Given the description of an element on the screen output the (x, y) to click on. 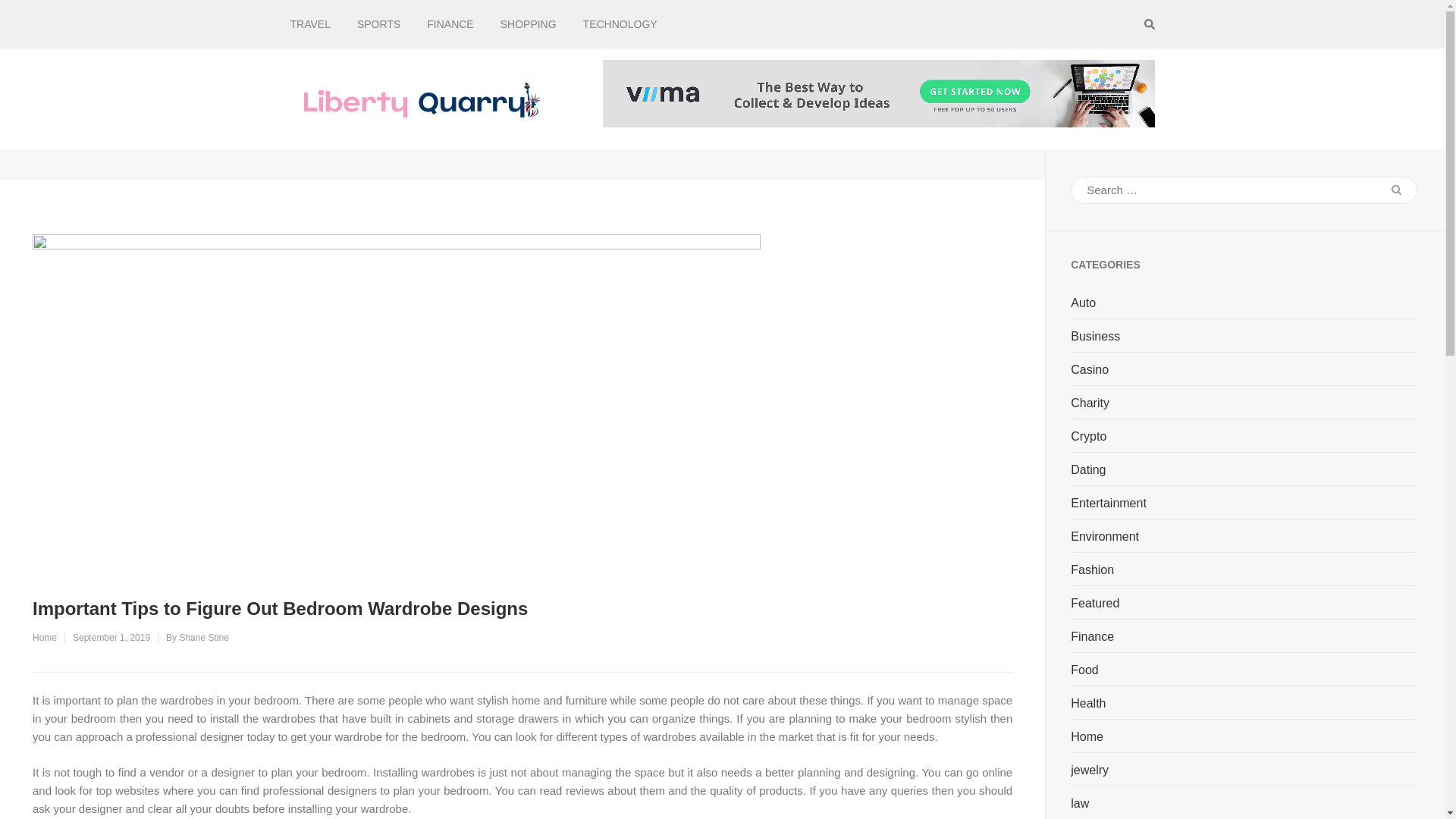
SHOPPING (528, 24)
Liberty Quarry (624, 112)
FINANCE (449, 24)
Food (1083, 669)
jewelry (1089, 770)
Featured (1094, 603)
Home (44, 637)
September 1, 2019 (110, 637)
Crypto (1088, 436)
Shane Stine (203, 637)
SPORTS (378, 24)
Environment (1104, 536)
TECHNOLOGY (620, 24)
Charity (1089, 402)
law (1079, 803)
